Given the description of an element on the screen output the (x, y) to click on. 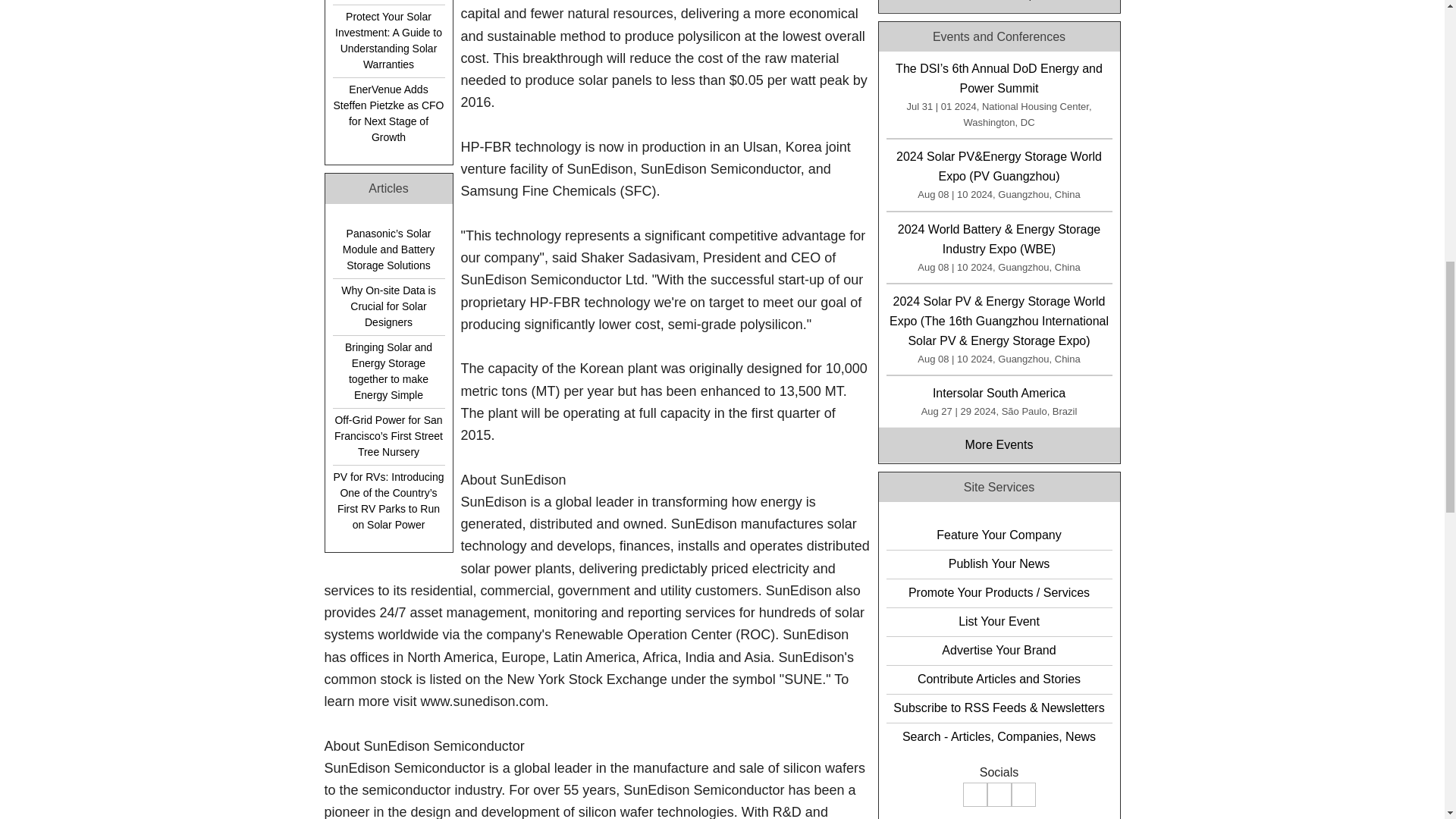
Why On-site Data is Crucial for Solar Designers (387, 305)
